Given the description of an element on the screen output the (x, y) to click on. 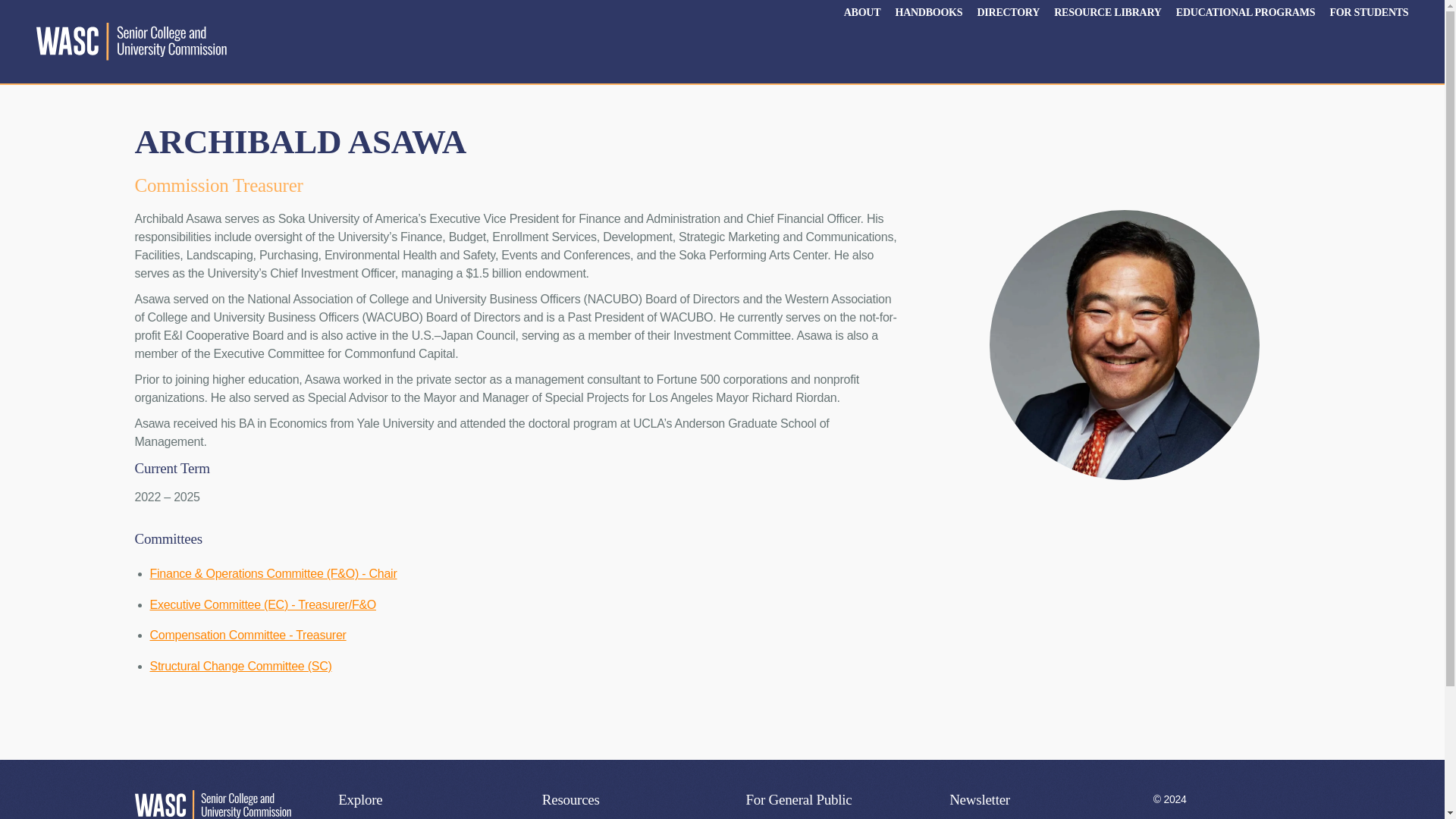
RESOURCE LIBRARY (1107, 11)
DIRECTORY (1007, 11)
ABOUT (862, 11)
HANDBOOKS (928, 11)
